Given the description of an element on the screen output the (x, y) to click on. 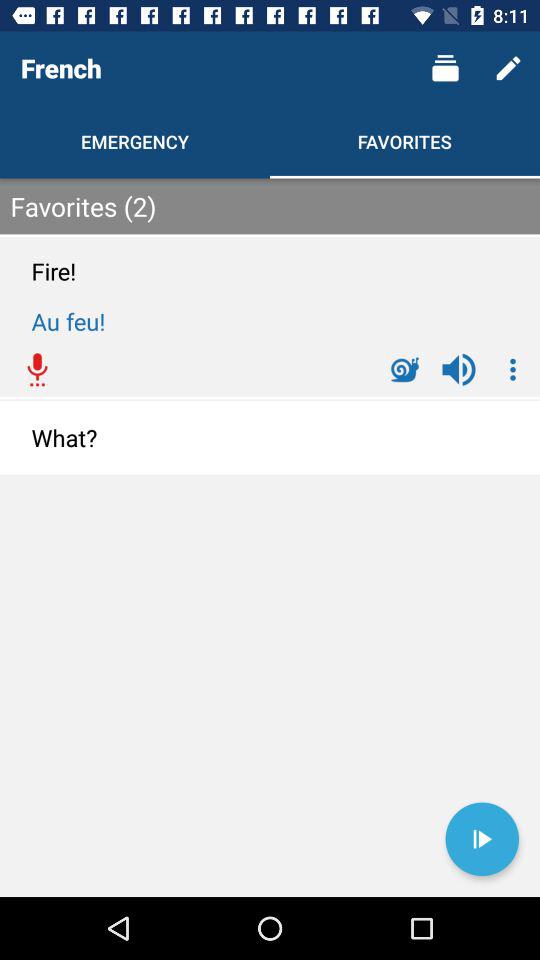
choose item above favorites item (444, 67)
